Given the description of an element on the screen output the (x, y) to click on. 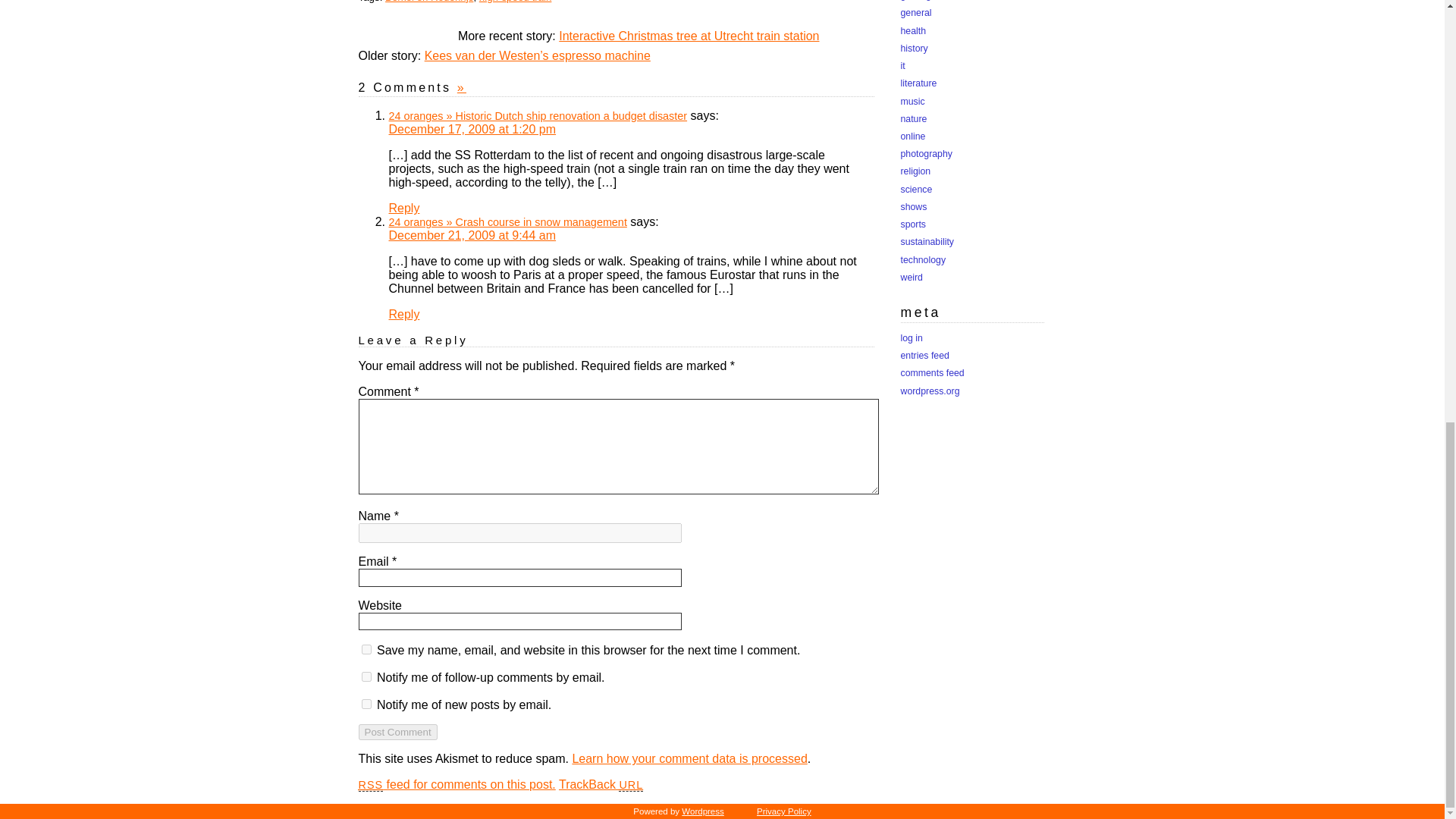
subscribe (366, 676)
Interactive Christmas tree at Utrecht train station (688, 35)
high-speed train (515, 1)
December 17, 2009 at 1:20 pm (472, 128)
yes (366, 649)
Berkel en Rodenrijs (429, 1)
Post Comment (397, 731)
Reply (403, 207)
subscribe (366, 704)
